Given the description of an element on the screen output the (x, y) to click on. 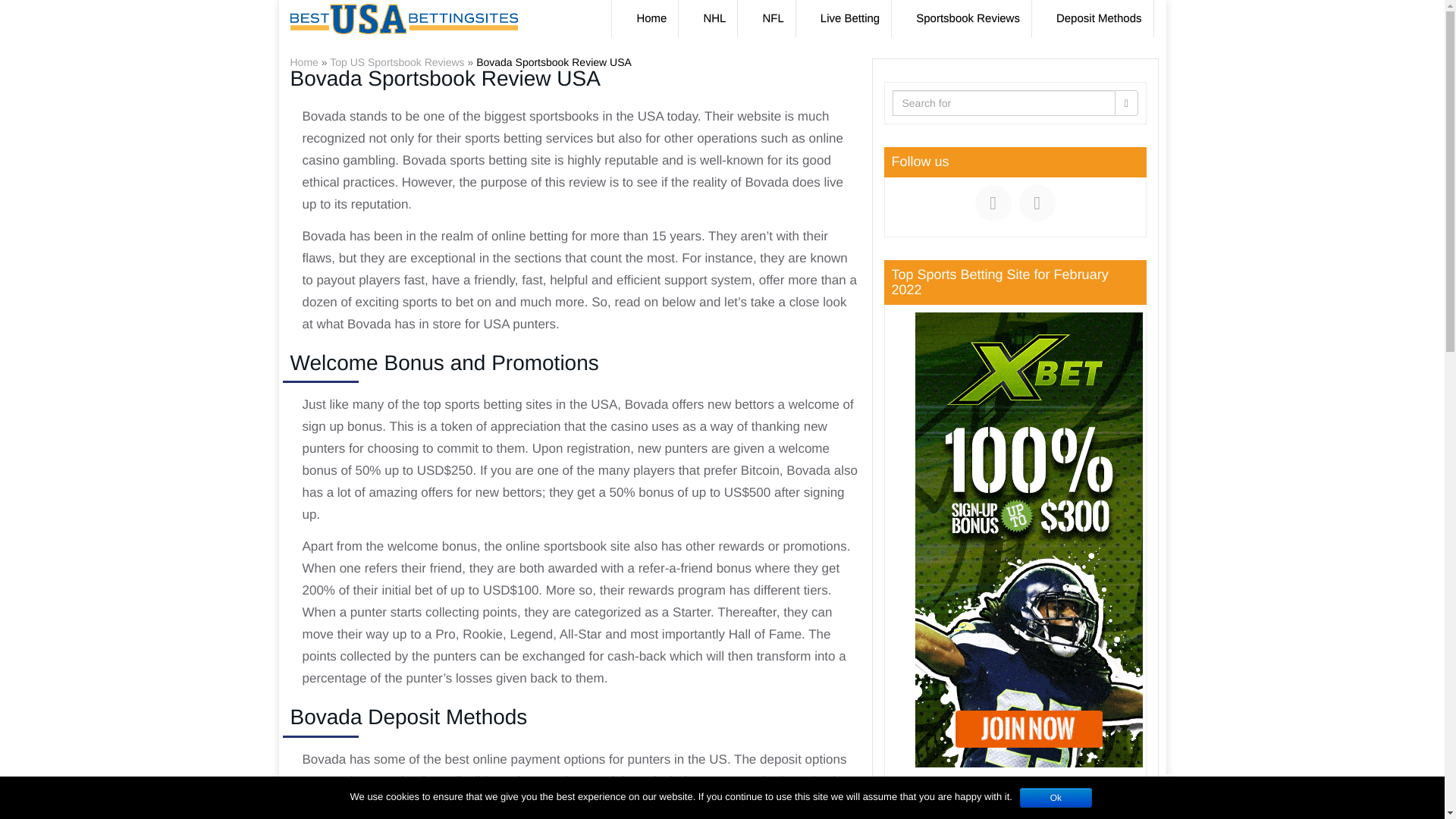
Home (651, 18)
Best usa betting sites (404, 18)
Sportsbook Reviews (967, 18)
NHL (713, 18)
Live Betting (850, 18)
Deposit Methods (1099, 18)
Home (303, 61)
NFL (772, 18)
Top US Sportsbook Reviews (397, 61)
Ok (1056, 797)
